Given the description of an element on the screen output the (x, y) to click on. 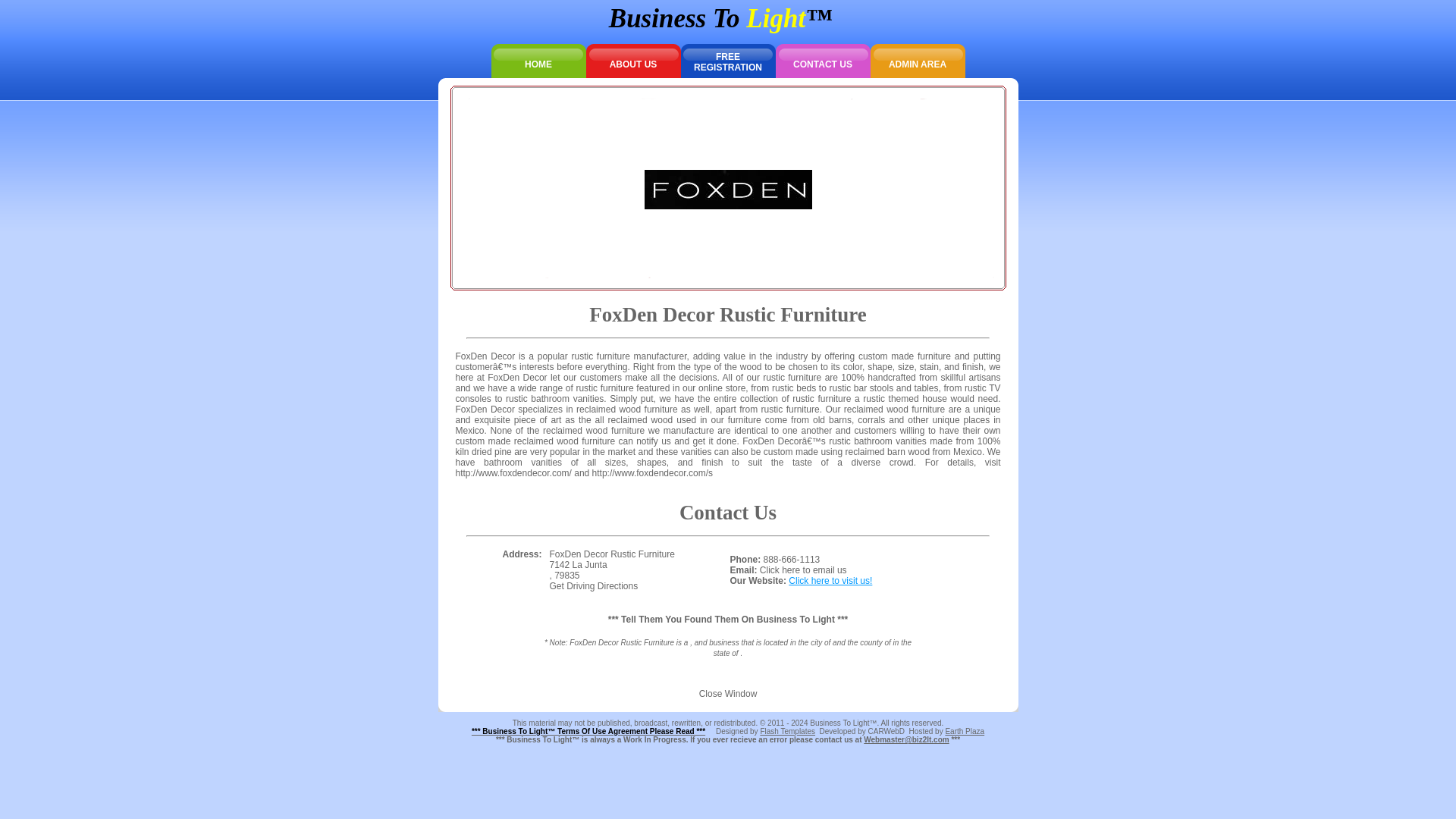
CONTACT US (821, 60)
ABOUT US (632, 60)
Earth Plaza (728, 60)
Get Driving Directions (964, 731)
Click here to visit us! (592, 585)
Flash Templates (830, 580)
Flash Templates (787, 731)
FoxDen Decor Rustic Furniture (787, 731)
Close Window (727, 187)
